Given the description of an element on the screen output the (x, y) to click on. 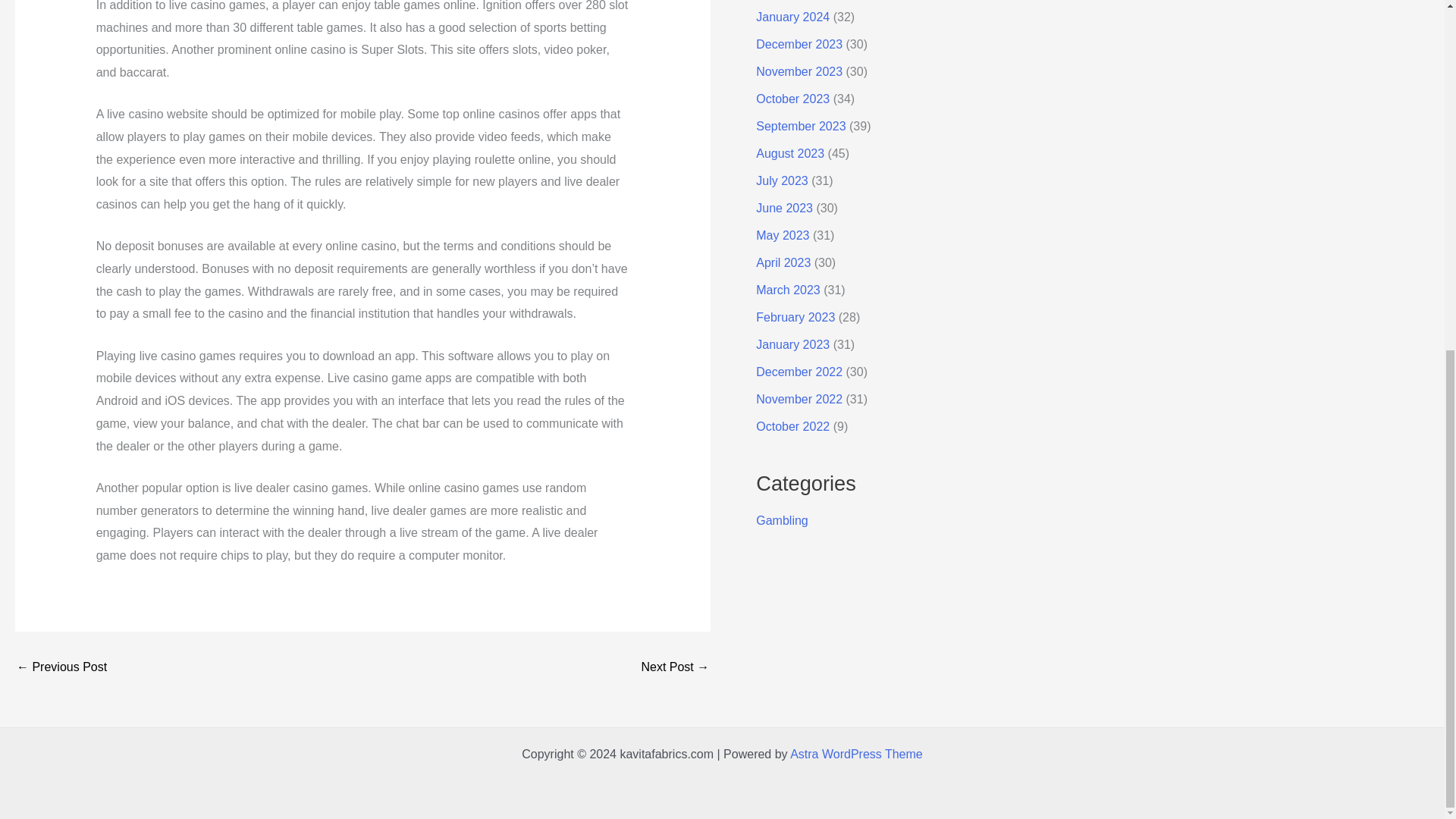
November 2022 (799, 399)
April 2023 (782, 262)
Astra WordPress Theme (856, 753)
February 2023 (794, 317)
January 2024 (792, 16)
January 2023 (792, 344)
October 2023 (792, 98)
Online Lottery Gambling (674, 666)
September 2023 (800, 125)
How to Play Online Slots (61, 666)
May 2023 (782, 235)
December 2022 (799, 371)
June 2023 (783, 207)
July 2023 (781, 180)
Gambling (781, 520)
